Given the description of an element on the screen output the (x, y) to click on. 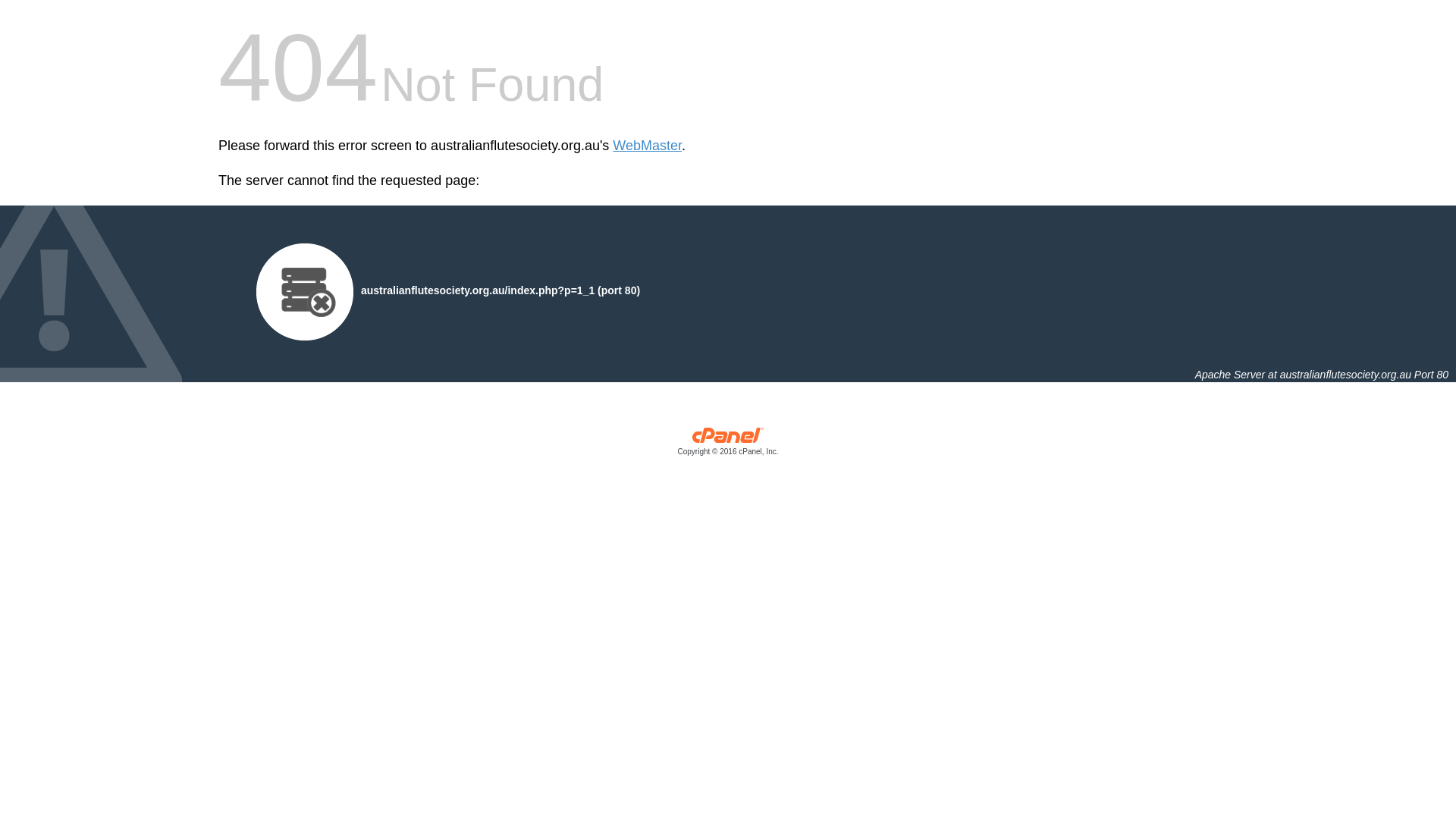
WebMaster Element type: text (646, 145)
